Given the description of an element on the screen output the (x, y) to click on. 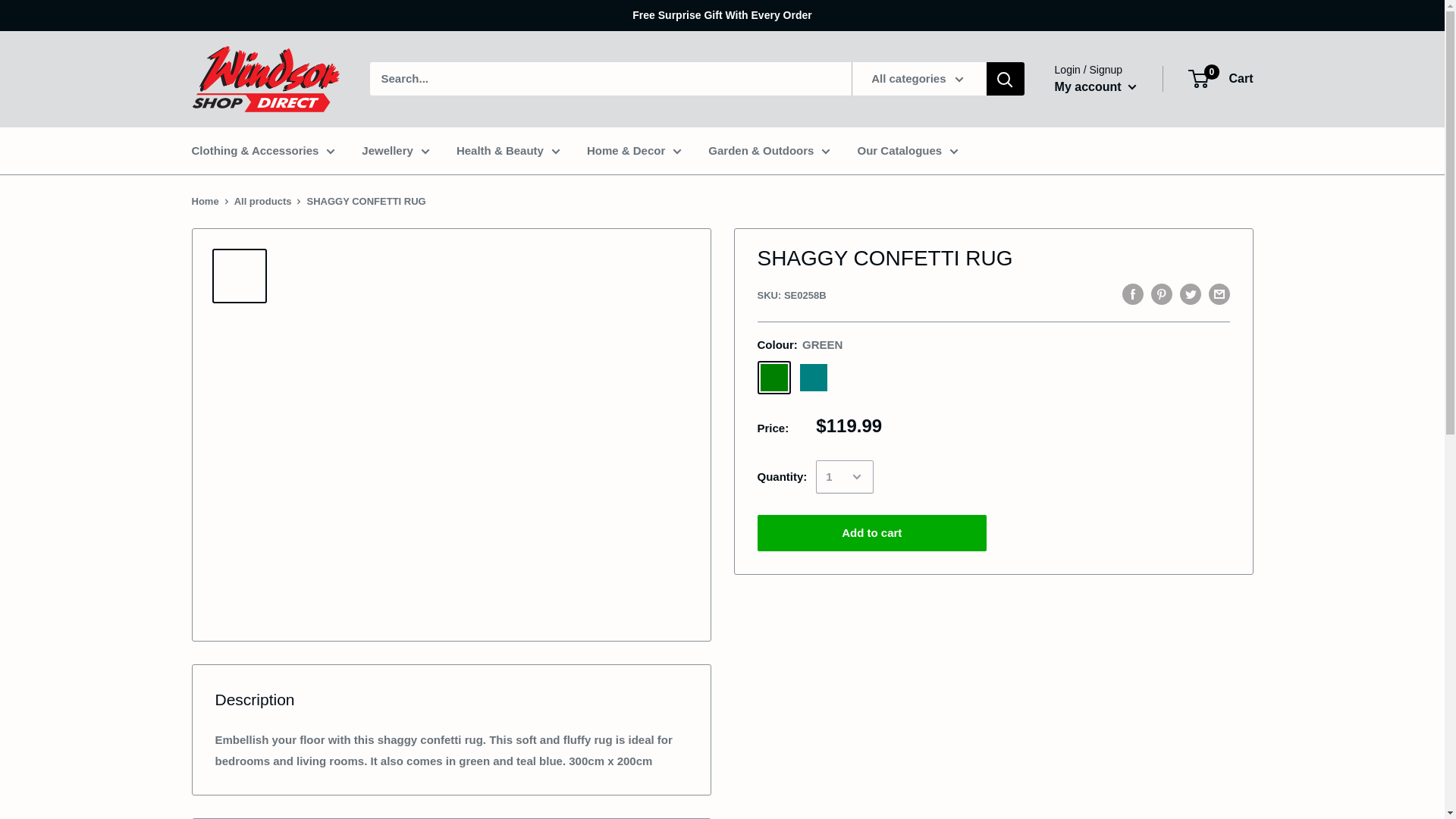
TEAL (813, 377)
GREEN (773, 377)
